Given the description of an element on the screen output the (x, y) to click on. 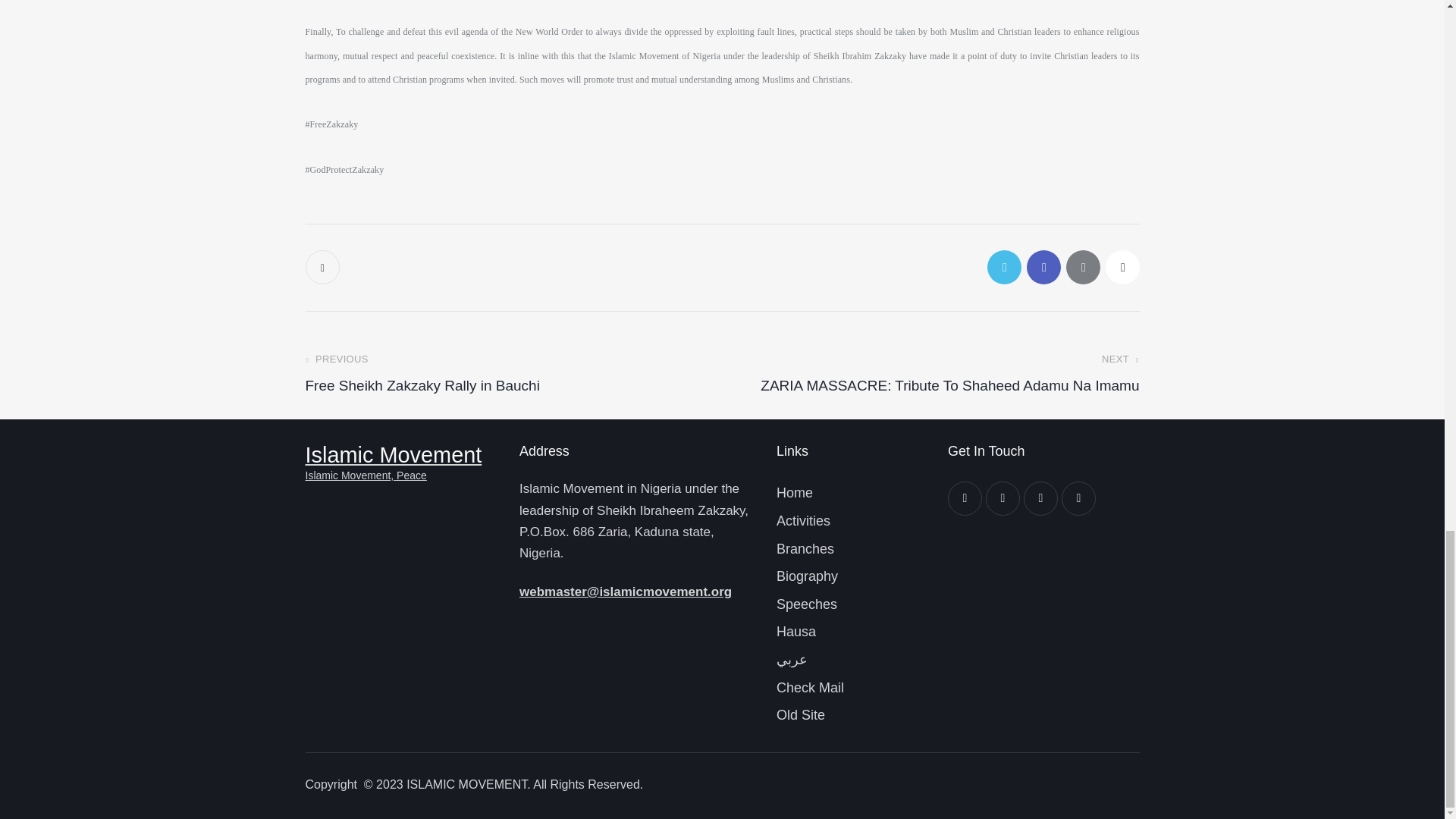
Copy URL to clipboard (1122, 267)
Like (323, 267)
